Given the description of an element on the screen output the (x, y) to click on. 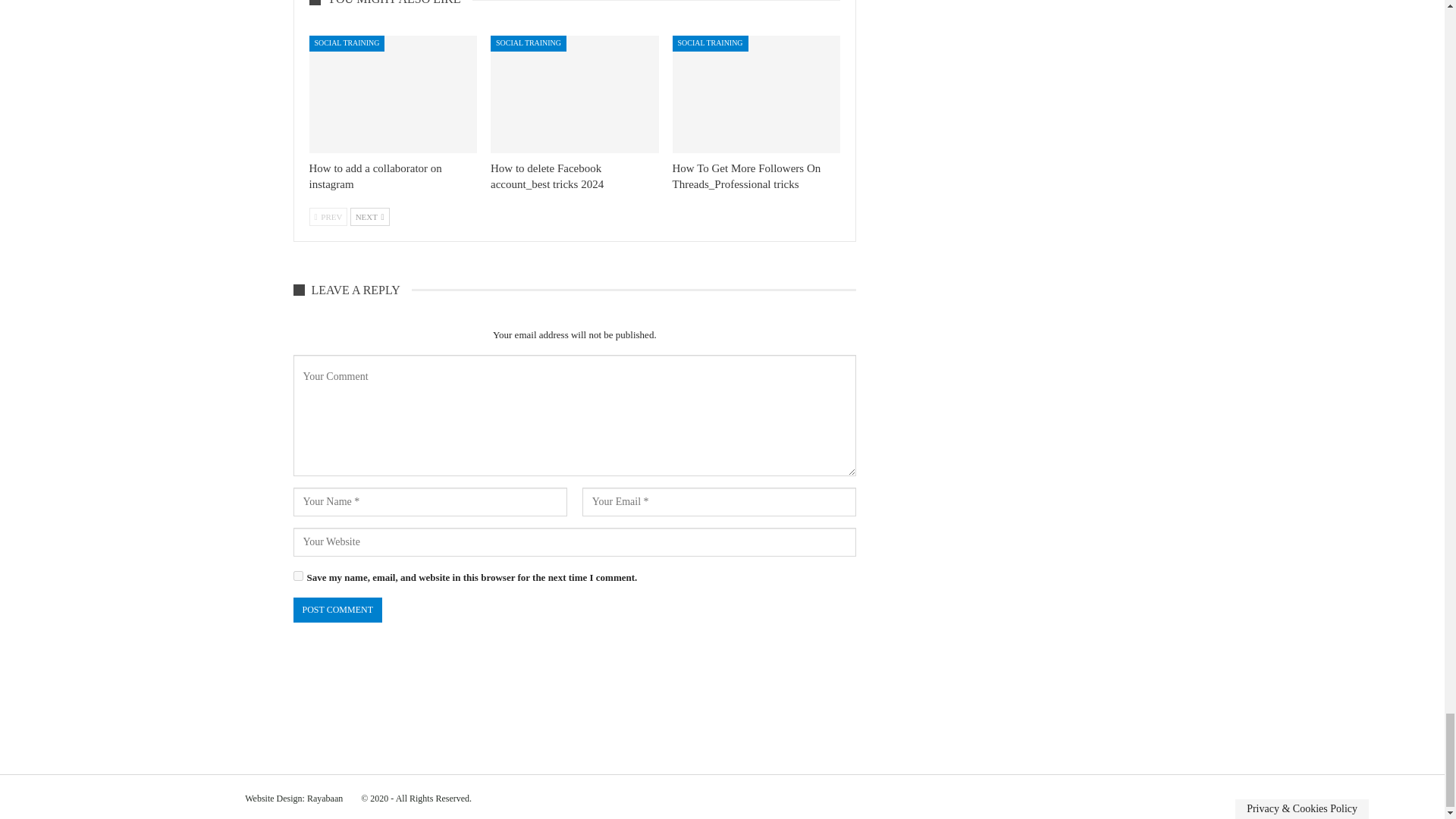
Post Comment (336, 609)
yes (297, 575)
